Given the description of an element on the screen output the (x, y) to click on. 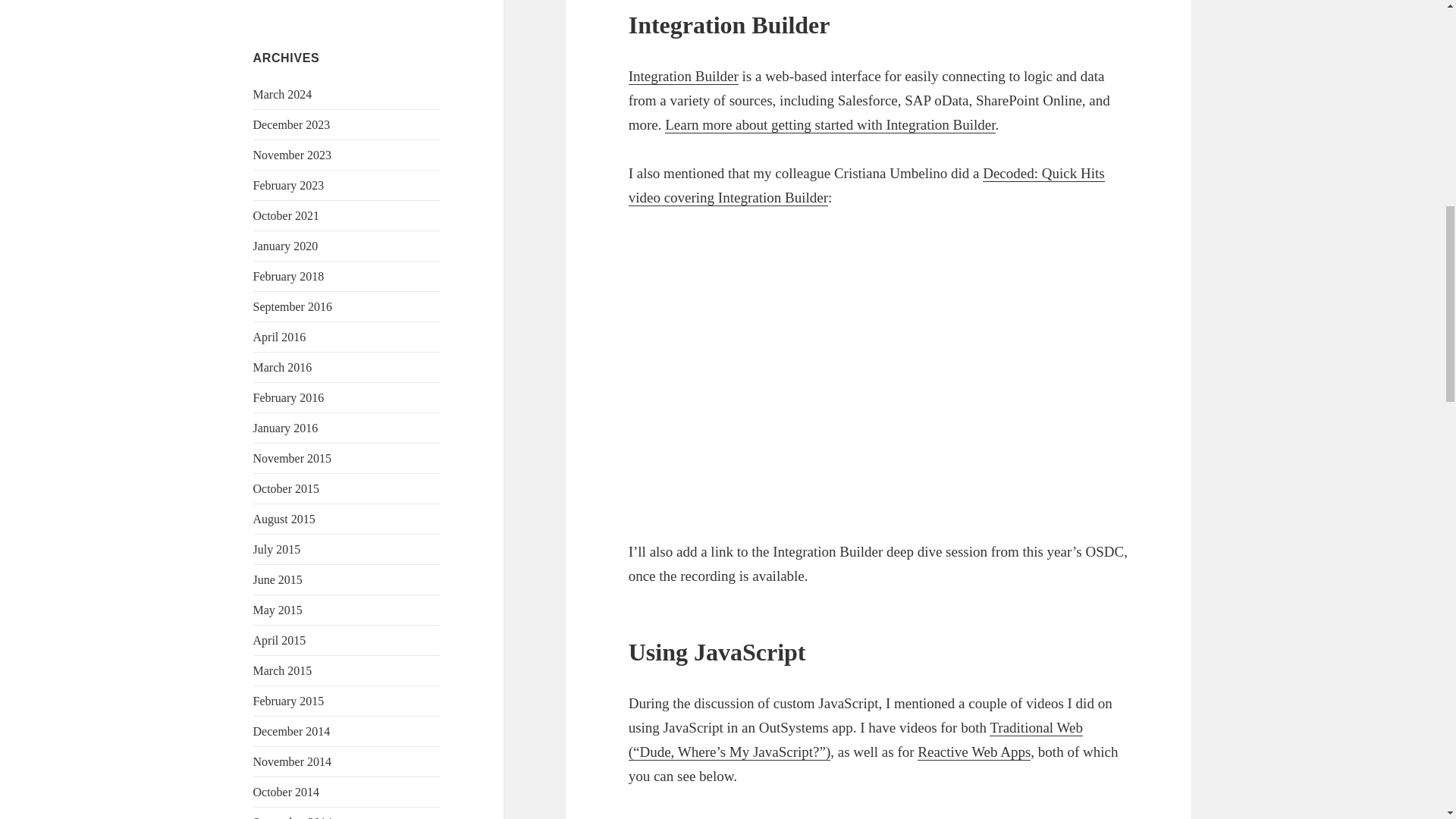
February 2018 (288, 276)
November 2023 (292, 154)
October 2021 (286, 215)
March 2024 (283, 93)
December 2014 (291, 730)
April 2016 (279, 336)
September 2016 (292, 306)
June 2015 (277, 579)
November 2014 (292, 761)
September 2014 (292, 817)
April 2015 (279, 640)
July 2015 (277, 549)
February 2015 (288, 700)
December 2023 (291, 124)
March 2016 (283, 367)
